Given the description of an element on the screen output the (x, y) to click on. 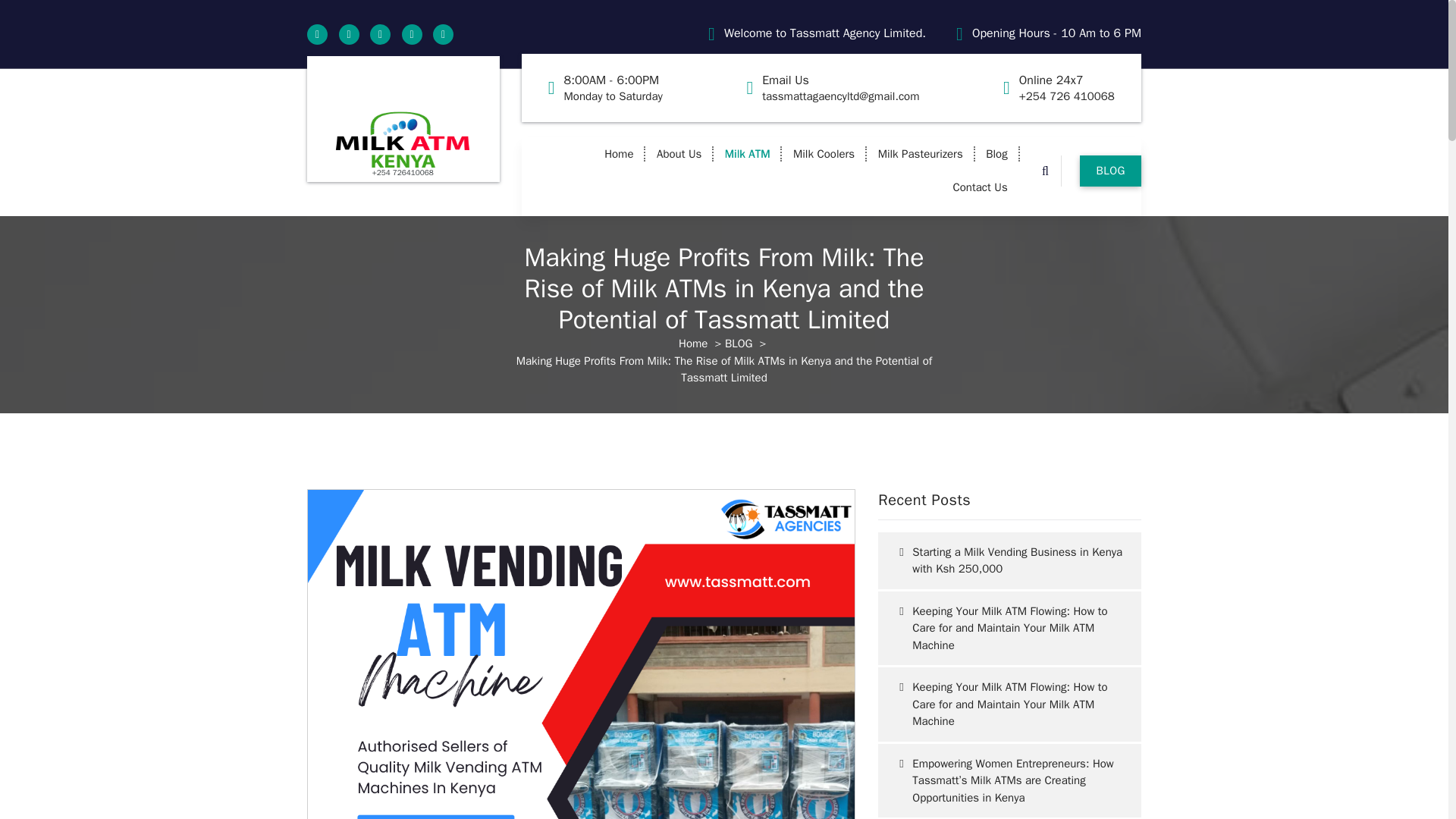
About Us (679, 153)
Home (618, 153)
Milk Coolers (823, 153)
Milk ATM (748, 153)
Welcome to Tassmatt Agency Limited. (824, 33)
Opening Hours - 10 Am to 6 PM (1056, 33)
Milk ATM (748, 153)
Blog (996, 153)
Milk Pasteurizers (920, 153)
Home (618, 153)
Contact Us (979, 186)
Milk Coolers (823, 153)
Blog (996, 153)
Milk Pasteurizers (920, 153)
